Given the description of an element on the screen output the (x, y) to click on. 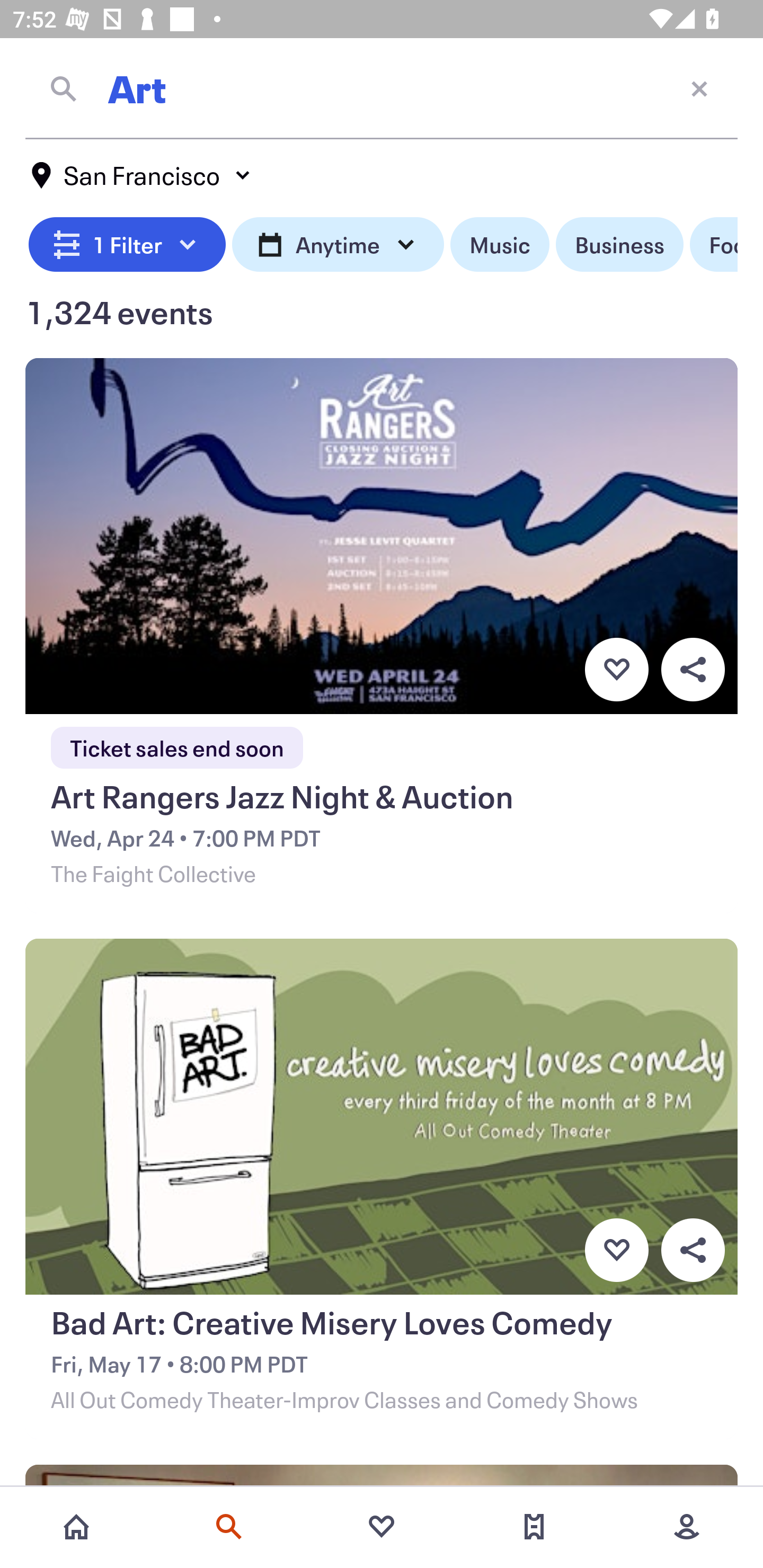
Art Close current screen (381, 88)
Close current screen (699, 88)
San Francisco (141, 175)
1 Filter (126, 244)
Anytime (337, 244)
Music (499, 244)
Business (619, 244)
Favorite button (616, 669)
Overflow menu button (692, 669)
Favorite button (616, 1250)
Overflow menu button (692, 1250)
Home (76, 1526)
Search events (228, 1526)
Favorites (381, 1526)
Tickets (533, 1526)
More (686, 1526)
